Given the description of an element on the screen output the (x, y) to click on. 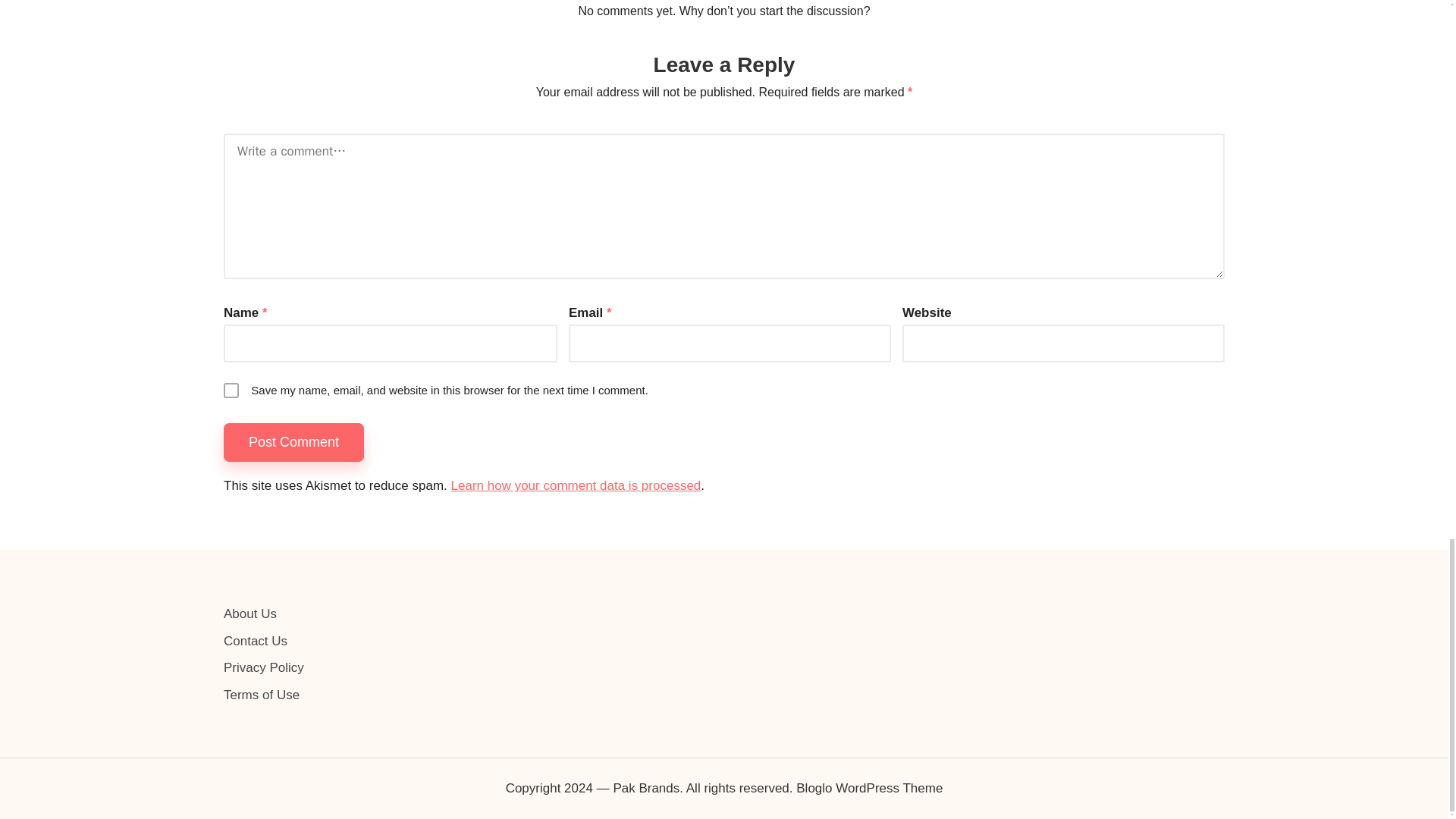
About Us (250, 613)
Learn how your comment data is processed (576, 485)
Terms of Use (261, 694)
yes (231, 390)
Post Comment (294, 442)
Post Comment (294, 442)
Bloglo WordPress Theme (869, 788)
Privacy Policy (264, 667)
Contact Us (255, 640)
